Given the description of an element on the screen output the (x, y) to click on. 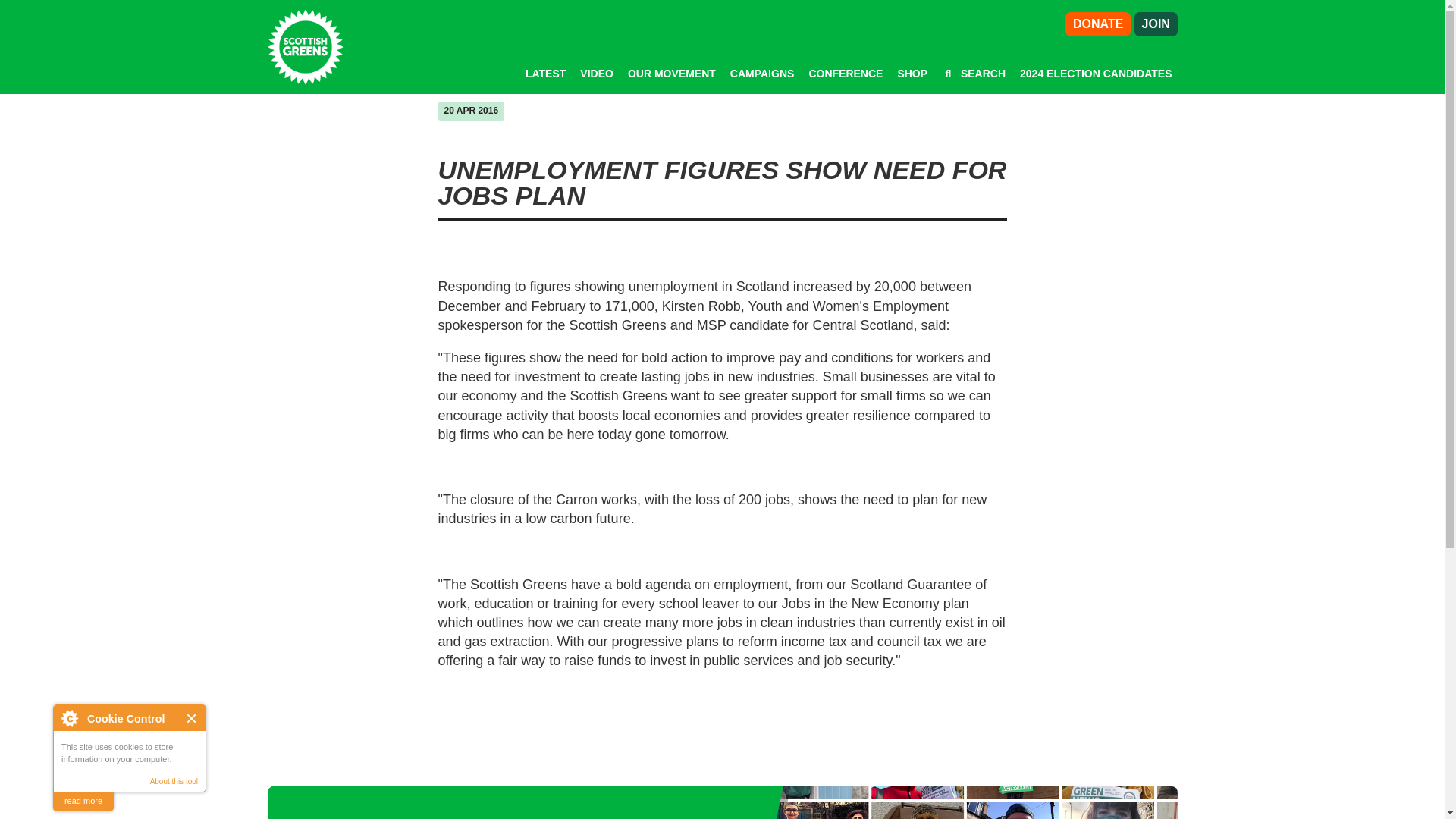
OUR MOVEMENT (671, 73)
Search (974, 73)
SHOP (911, 73)
DONATE (1098, 24)
CAMPAIGNS (762, 73)
2024 ELECTION CANDIDATES (1096, 73)
Close (191, 718)
About Cookie Control (68, 718)
JOIN (1155, 24)
CONFERENCE (845, 73)
